Given the description of an element on the screen output the (x, y) to click on. 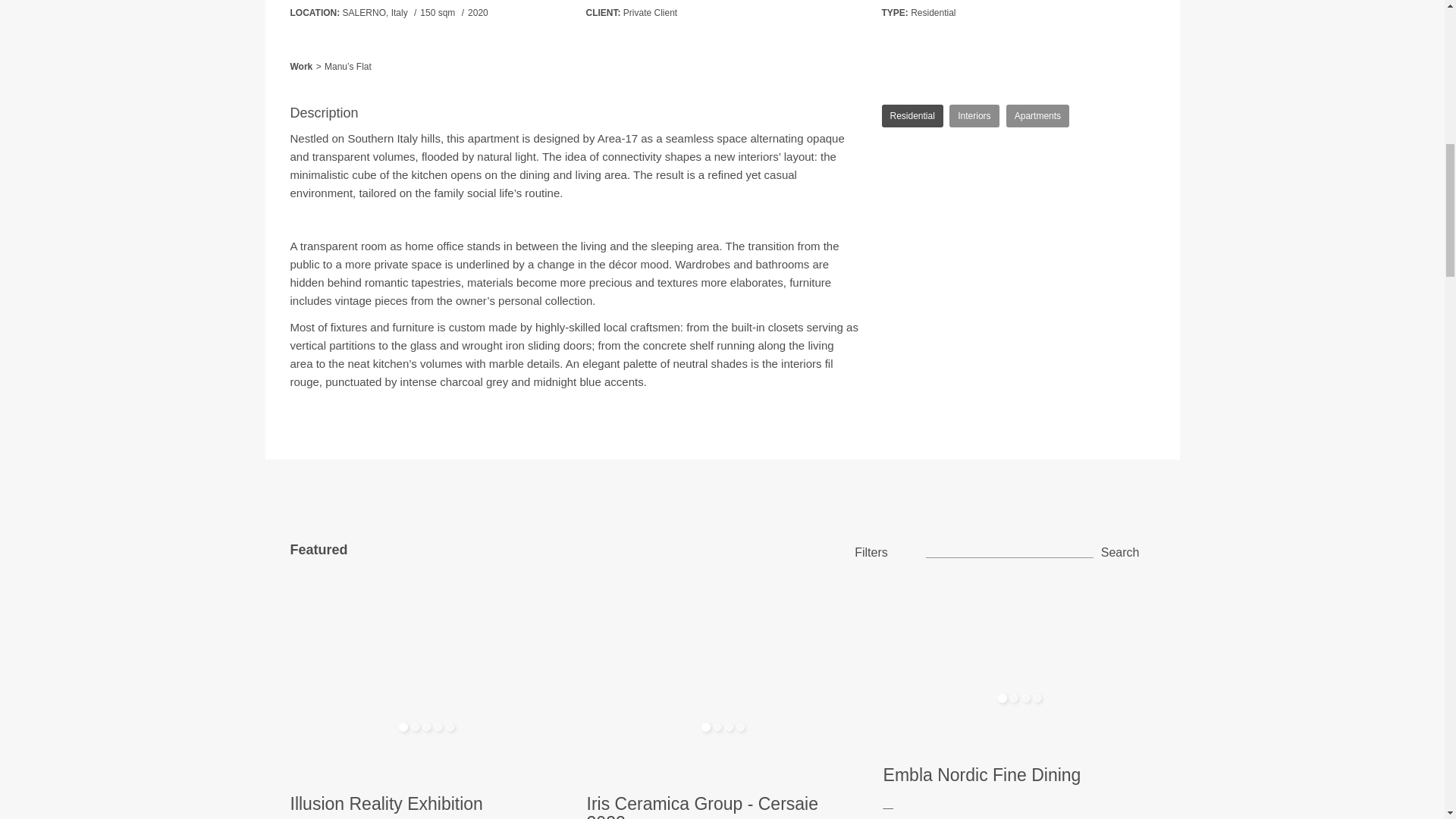
Residential (933, 12)
Work (301, 66)
Residential (911, 115)
